Given the description of an element on the screen output the (x, y) to click on. 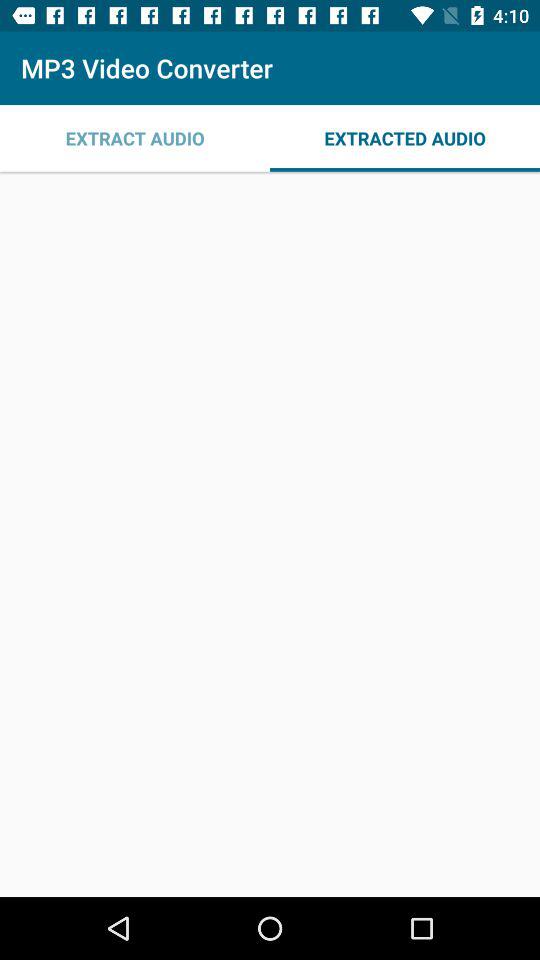
turn off the extracted audio item (405, 138)
